Given the description of an element on the screen output the (x, y) to click on. 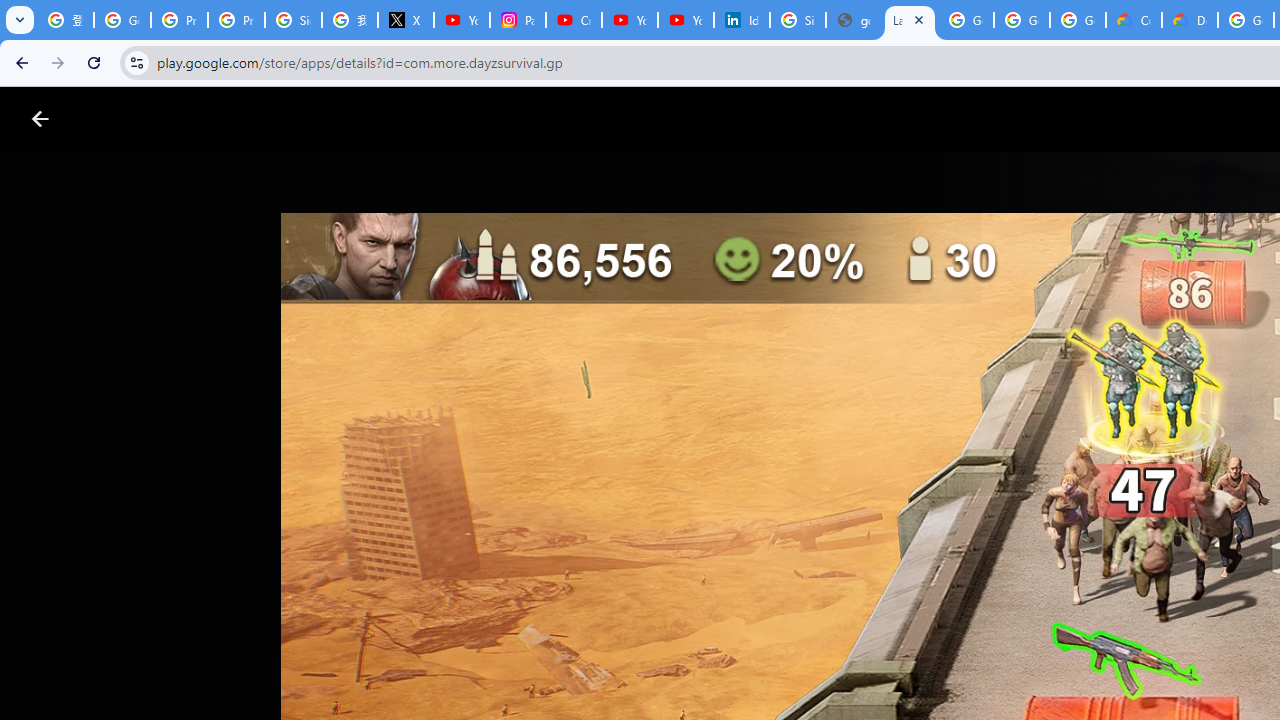
Kids (385, 119)
Customer Care | Google Cloud (1133, 20)
YouTube Content Monetization Policies - How YouTube Works (461, 20)
X (405, 20)
Content rating (973, 656)
Google Play logo (111, 119)
More info about this content rating (1013, 678)
Long Tech Network Limited (734, 602)
